Given the description of an element on the screen output the (x, y) to click on. 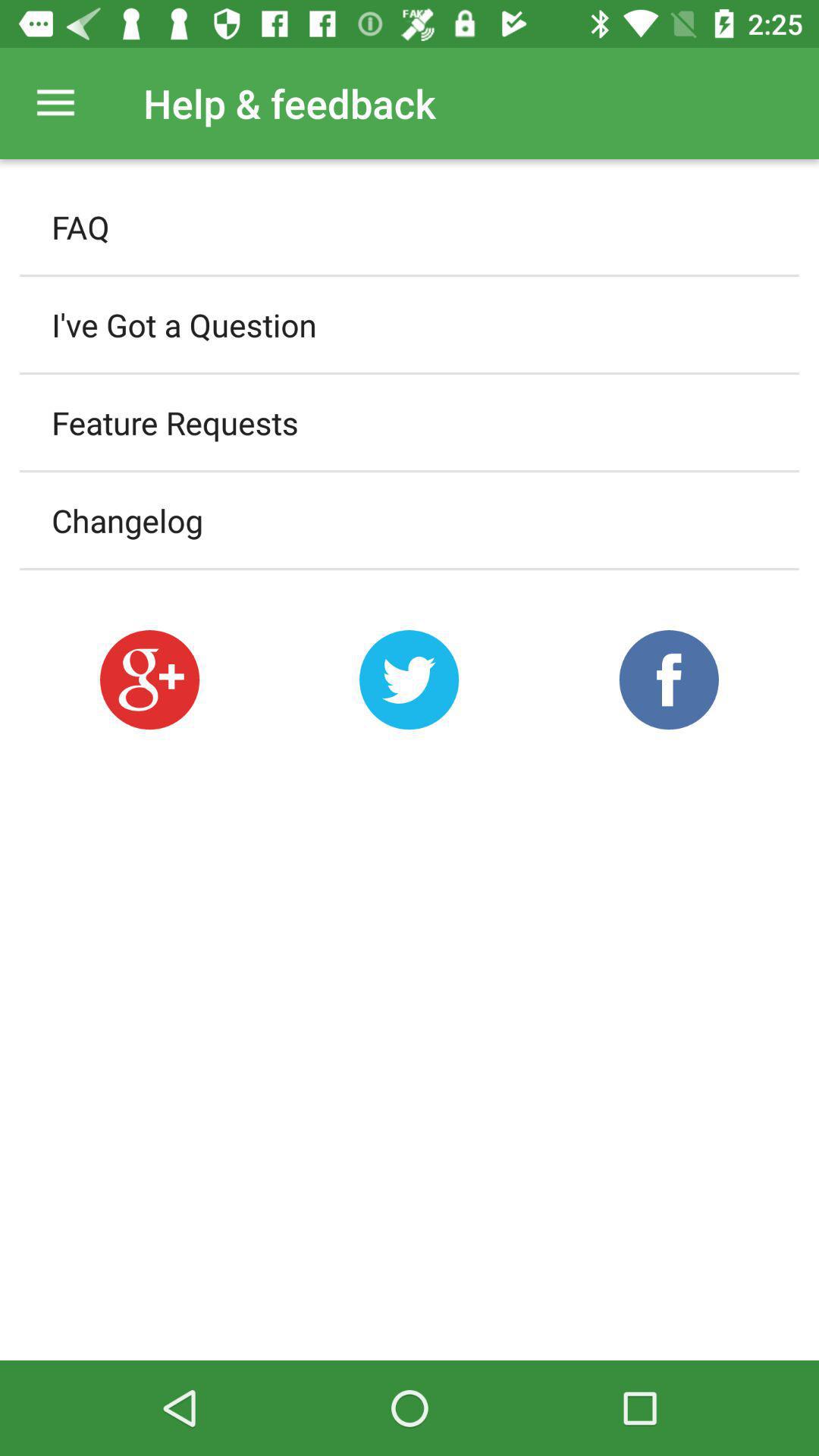
choose item below the feature requests (409, 520)
